Given the description of an element on the screen output the (x, y) to click on. 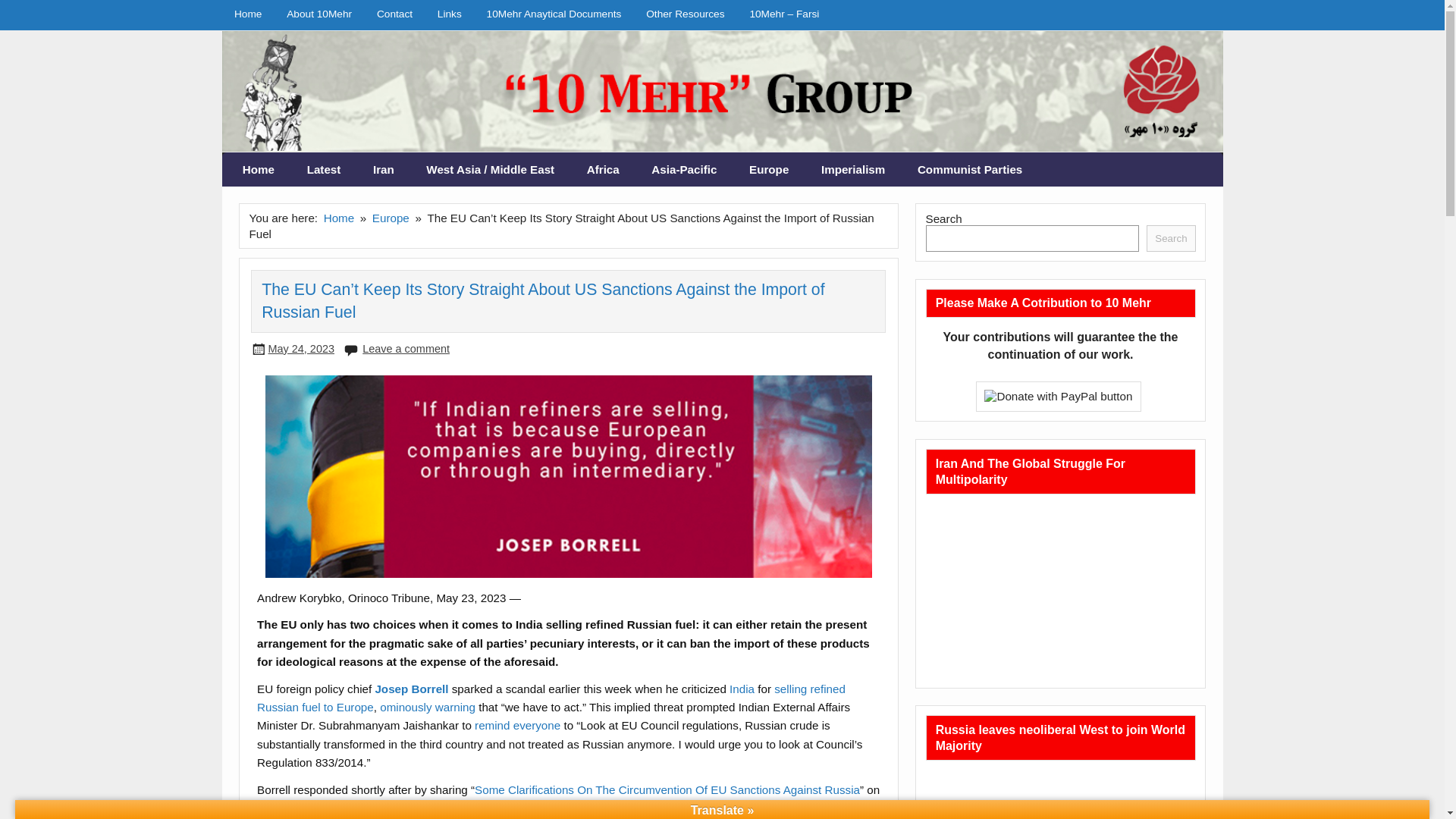
Josep (390, 688)
Other Resources (684, 14)
5:38 am (300, 348)
Imperialism (853, 170)
Iran (383, 170)
Europe (769, 170)
Africa (602, 170)
Links (449, 14)
Home (259, 170)
Asia-Pacific (683, 170)
